Given the description of an element on the screen output the (x, y) to click on. 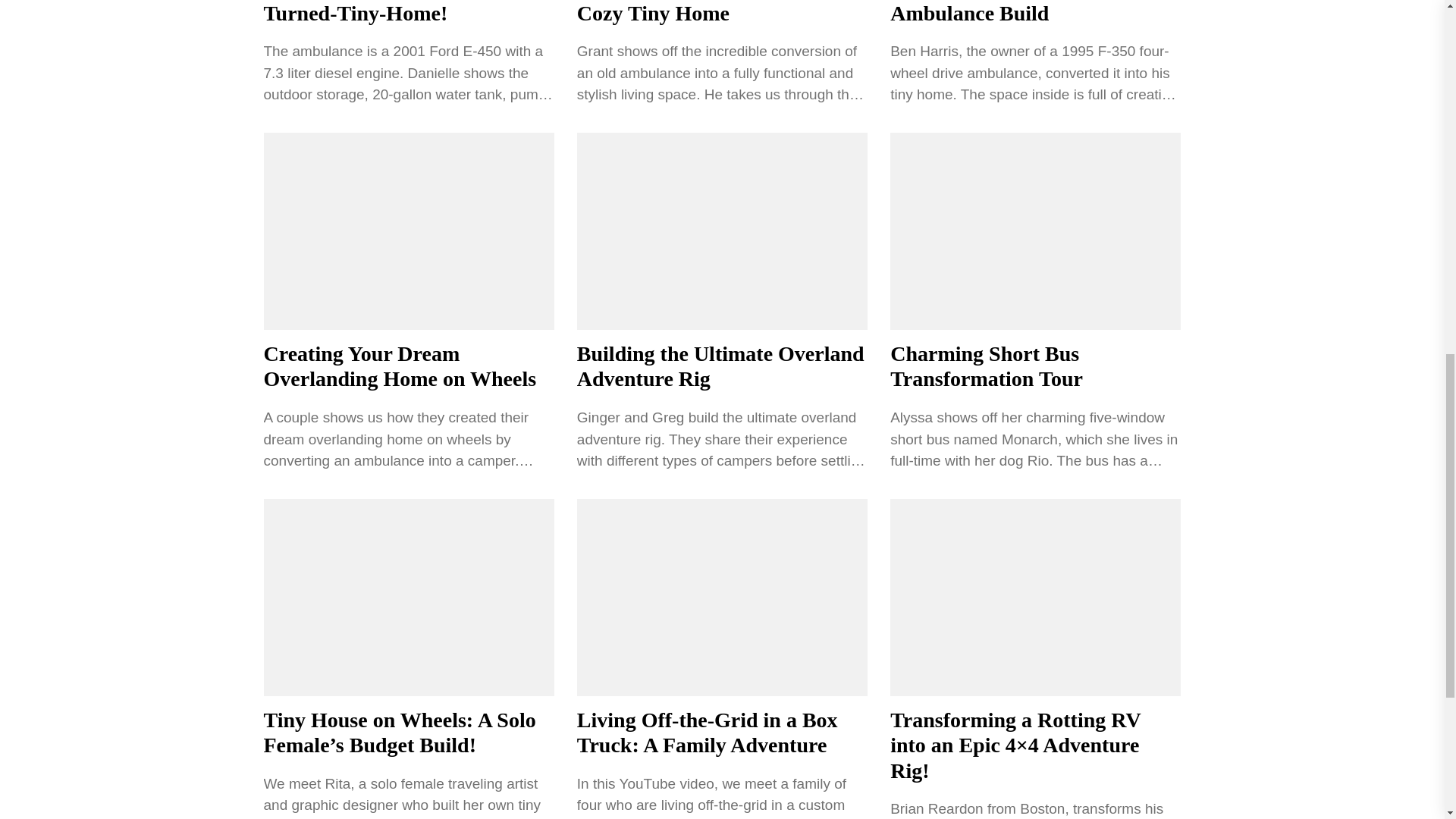
Ambulance Transformed into Cozy Tiny Home (710, 12)
Creating Your Dream Overlanding Home on Wheels (400, 366)
Inside a Cozy Ambulance-Turned-Tiny-Home! (381, 12)
Building the Ultimate Overland Adventure Rig (720, 366)
Charming Short Bus Transformation Tour (986, 366)
